Given the description of an element on the screen output the (x, y) to click on. 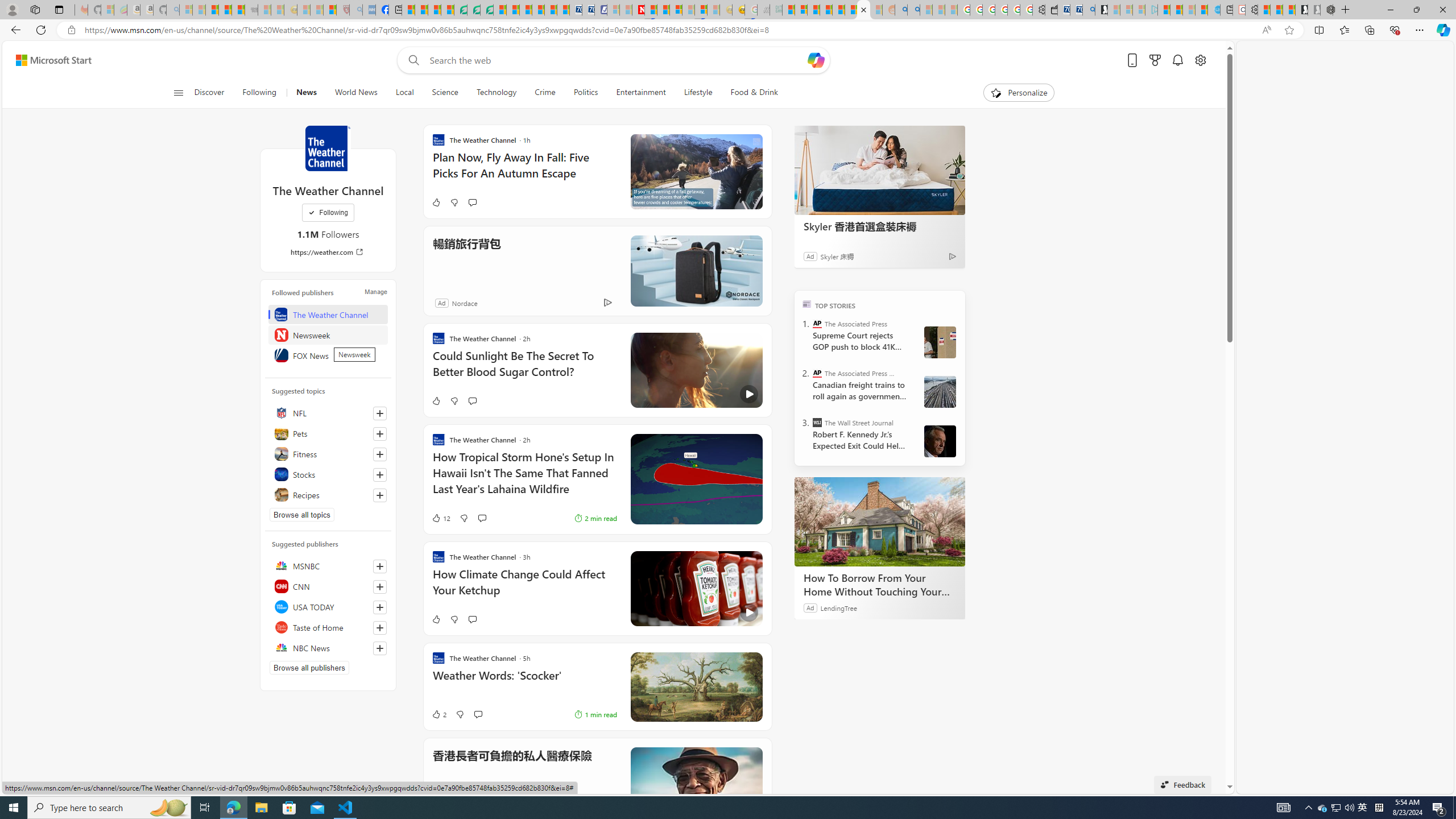
TOP (806, 302)
MSNBC (327, 565)
FOX News (327, 355)
The Wall Street Journal (816, 422)
